Given the description of an element on the screen output the (x, y) to click on. 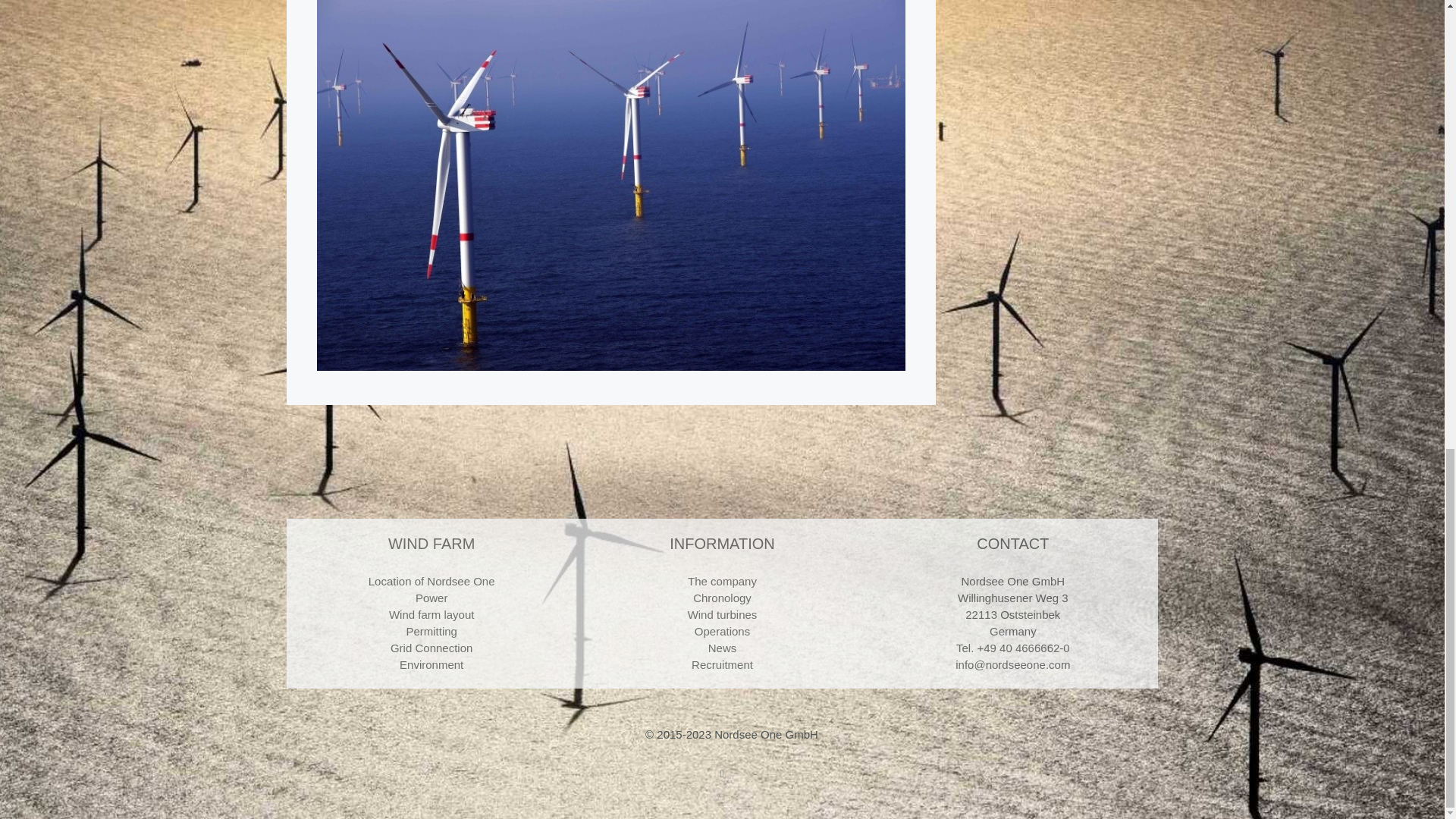
Grid Connection (430, 647)
Environment (430, 664)
The company (722, 581)
Wind farm layout (431, 614)
Location of Nordsee One (431, 581)
Power (431, 597)
Permitting (431, 631)
